Given the description of an element on the screen output the (x, y) to click on. 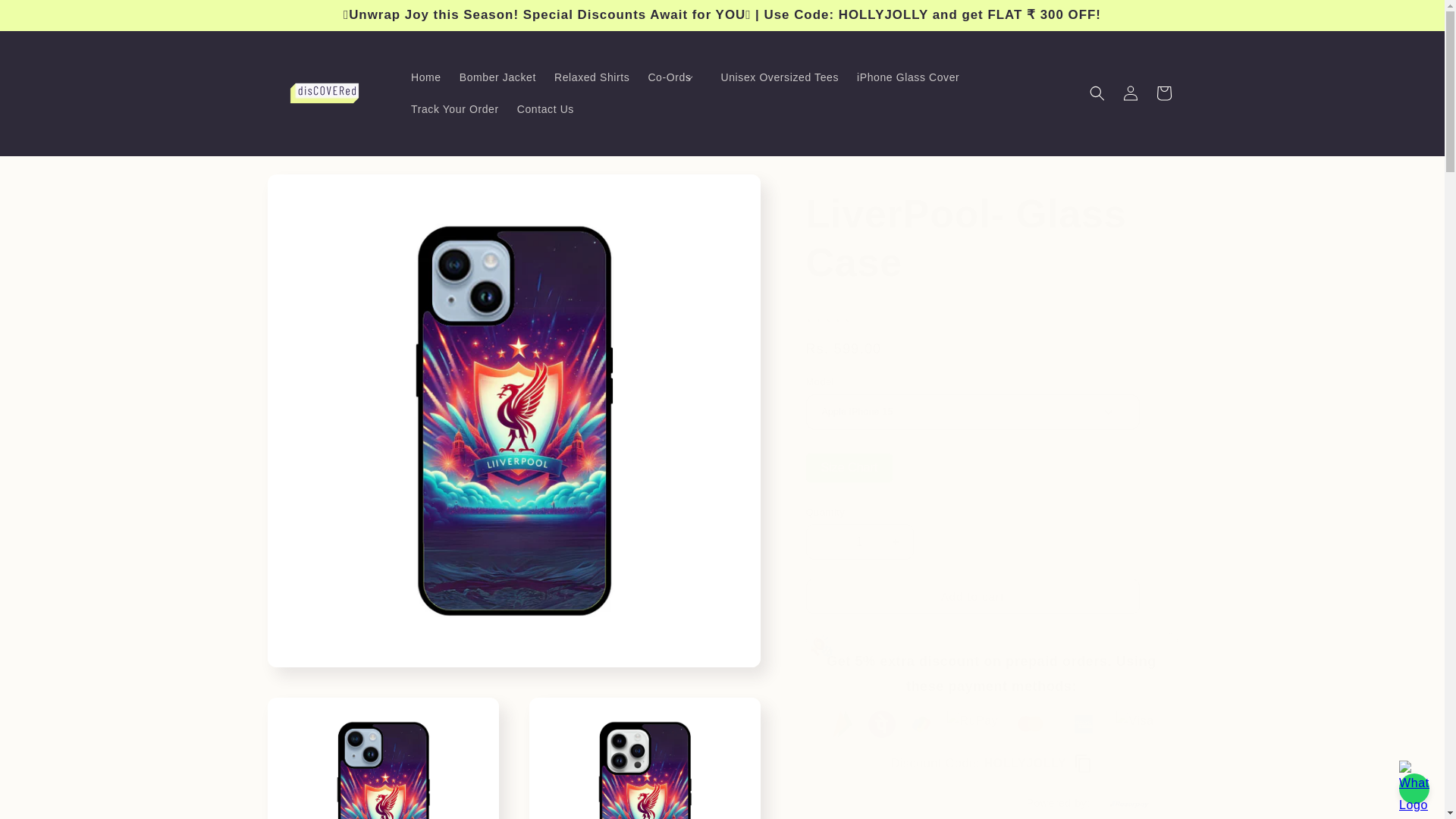
Unisex Oversized Tees (779, 77)
Cart (1163, 92)
1 (858, 541)
Home (425, 77)
Bomber Jacket (496, 77)
Open media 3 in modal (644, 758)
Log in (1130, 92)
Open media 2 in modal (381, 758)
Skip to content (45, 17)
Relaxed Shirts (591, 77)
